Given the description of an element on the screen output the (x, y) to click on. 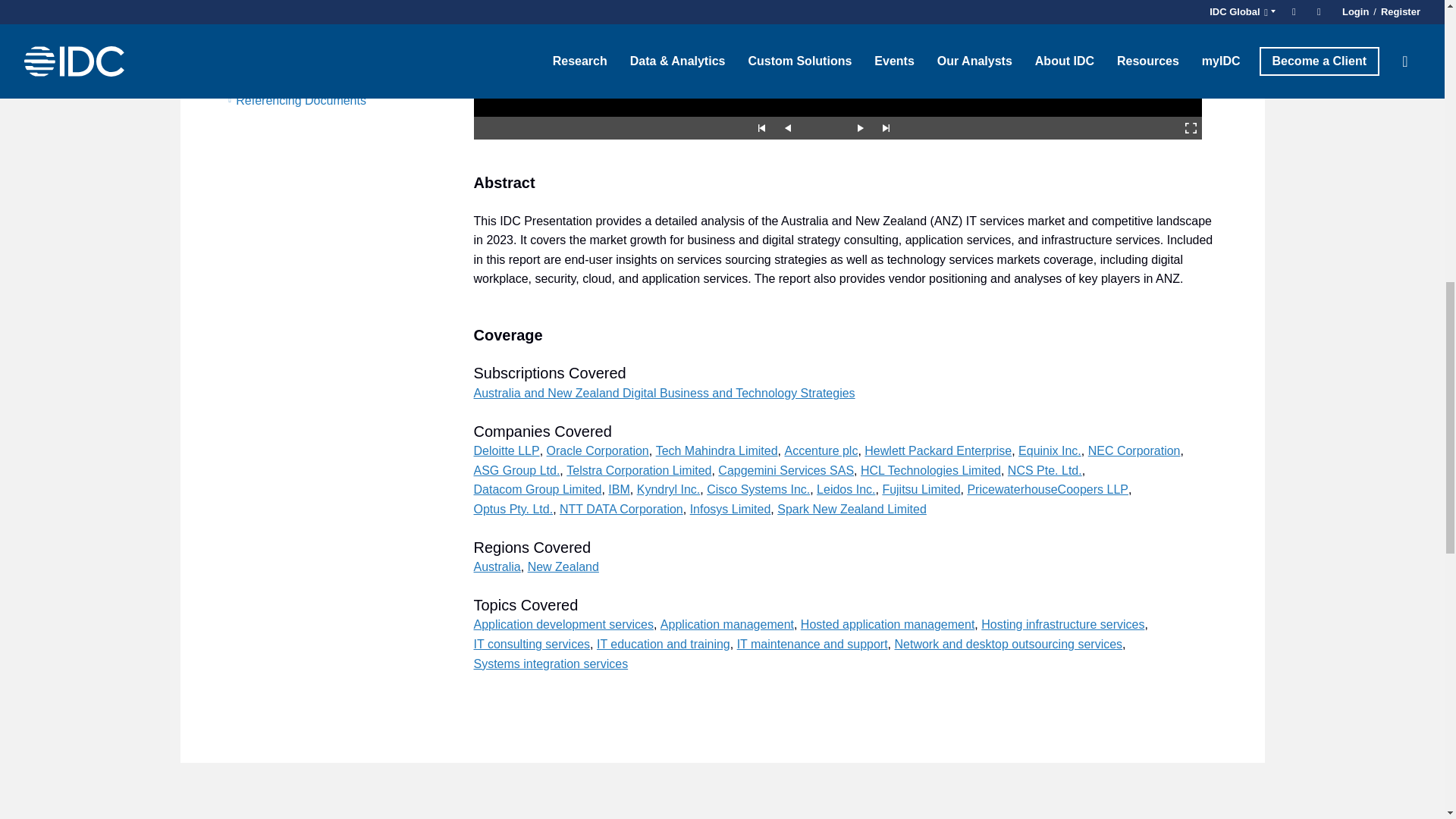
Next slide (860, 127)
Previous slide (787, 127)
Fullscreen (1190, 127)
Skip to end (886, 127)
Skip to start (761, 127)
